Given the description of an element on the screen output the (x, y) to click on. 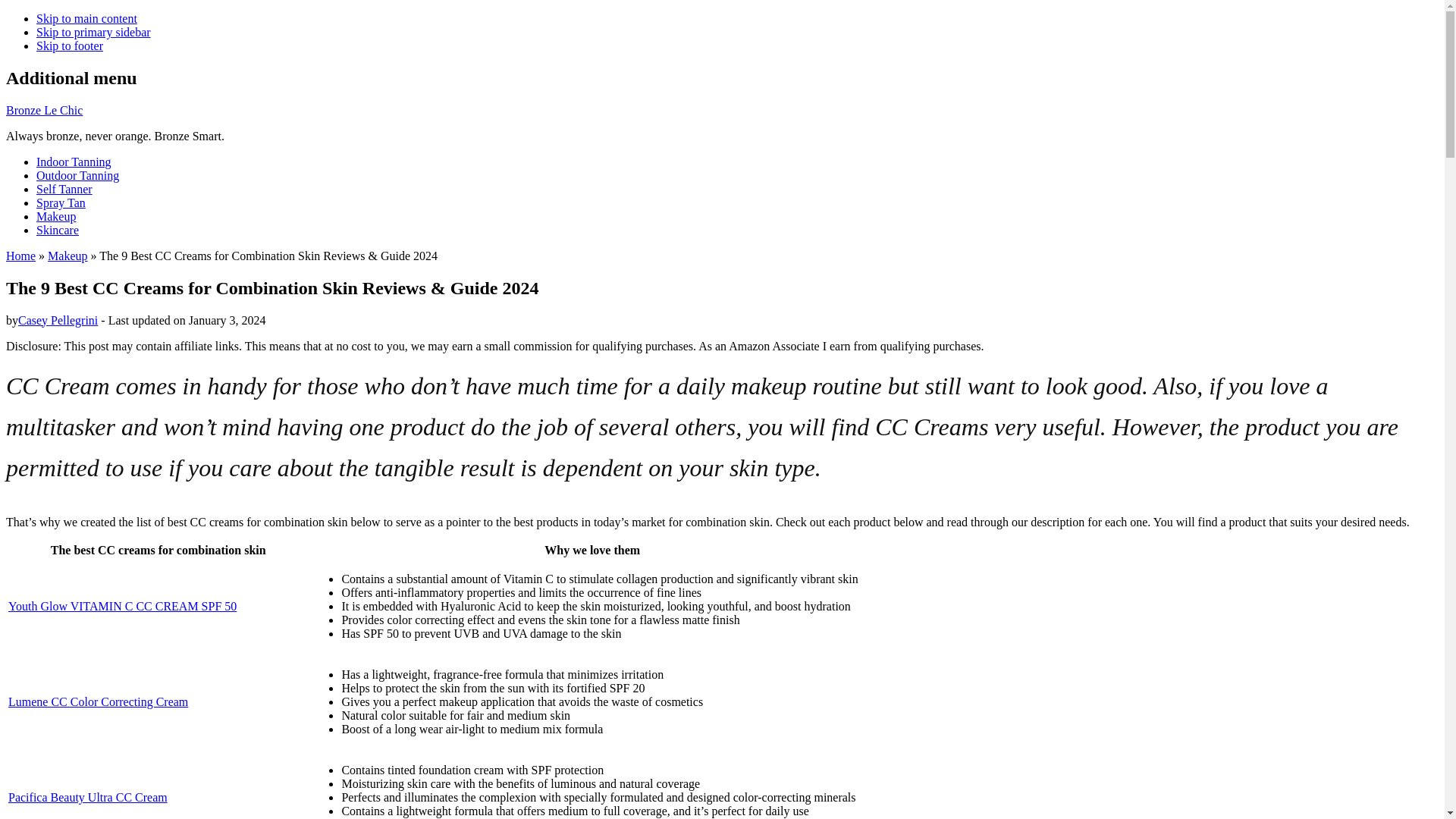
Skip to footer (69, 45)
Skincare (57, 229)
Outdoor Tanning (77, 174)
Youth Glow VITAMIN C CC CREAM SPF 50 (121, 605)
Pacifica Beauty Ultra CC Cream (87, 797)
Bronze Le Chic (43, 110)
Makeup (55, 215)
Spray Tan (60, 202)
Casey Pellegrini (57, 319)
Skip to main content (86, 18)
